Given the description of an element on the screen output the (x, y) to click on. 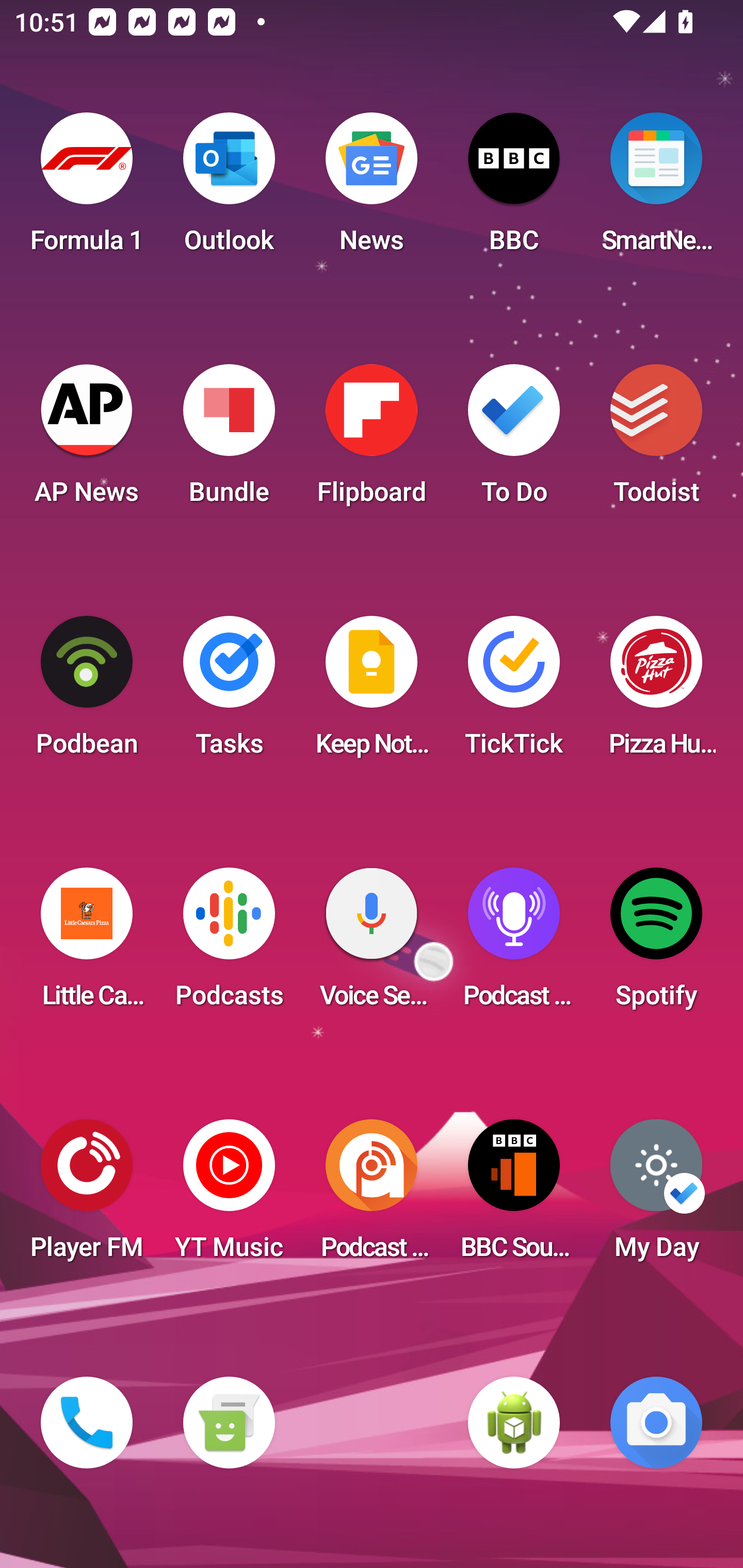
Formula 1 (86, 188)
Outlook (228, 188)
News (371, 188)
BBC (513, 188)
SmartNews (656, 188)
AP News (86, 440)
Bundle (228, 440)
Flipboard (371, 440)
To Do (513, 440)
Todoist (656, 440)
Podbean (86, 692)
Tasks (228, 692)
Keep Notes (371, 692)
TickTick (513, 692)
Pizza Hut HK & Macau (656, 692)
Little Caesars Pizza (86, 943)
Podcasts (228, 943)
Voice Search (371, 943)
Podcast Player (513, 943)
Spotify (656, 943)
Player FM (86, 1195)
YT Music (228, 1195)
Podcast Addict (371, 1195)
BBC Sounds (513, 1195)
My Day (656, 1195)
Phone (86, 1422)
Messaging (228, 1422)
WebView Browser Tester (513, 1422)
Camera (656, 1422)
